Given the description of an element on the screen output the (x, y) to click on. 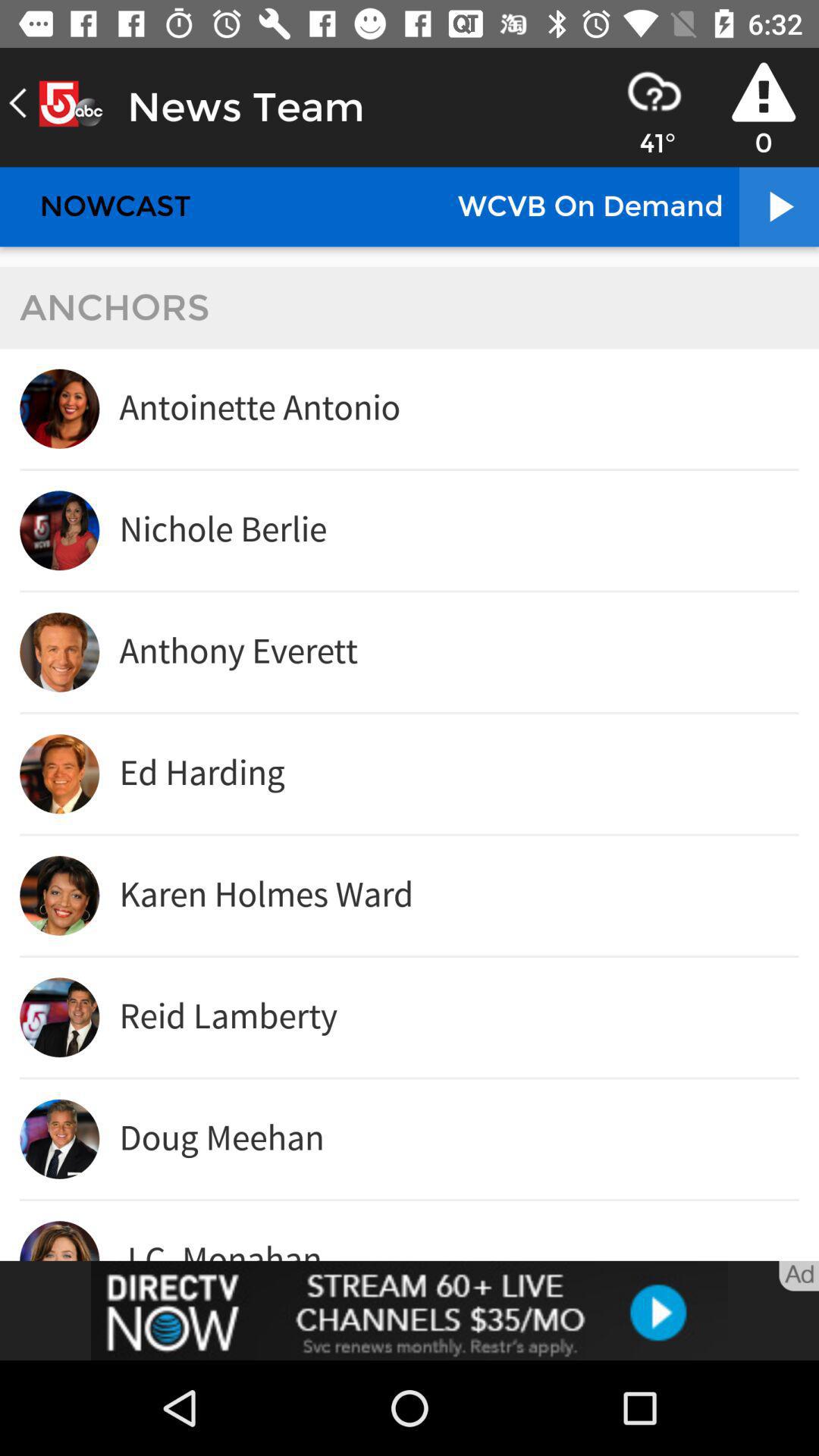
adding advertisement (409, 1310)
